Given the description of an element on the screen output the (x, y) to click on. 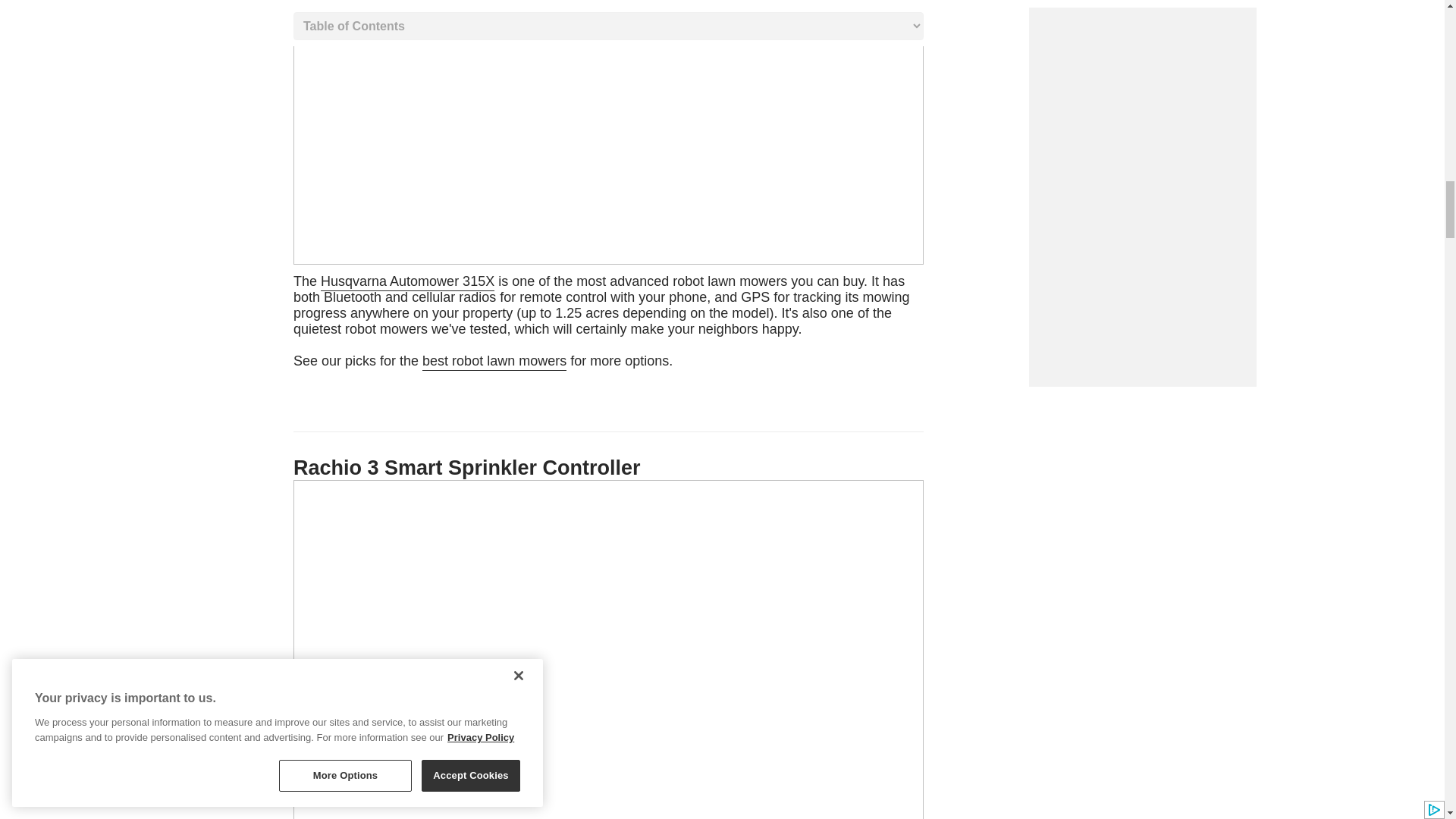
Buy It Now (601, 322)
